Given the description of an element on the screen output the (x, y) to click on. 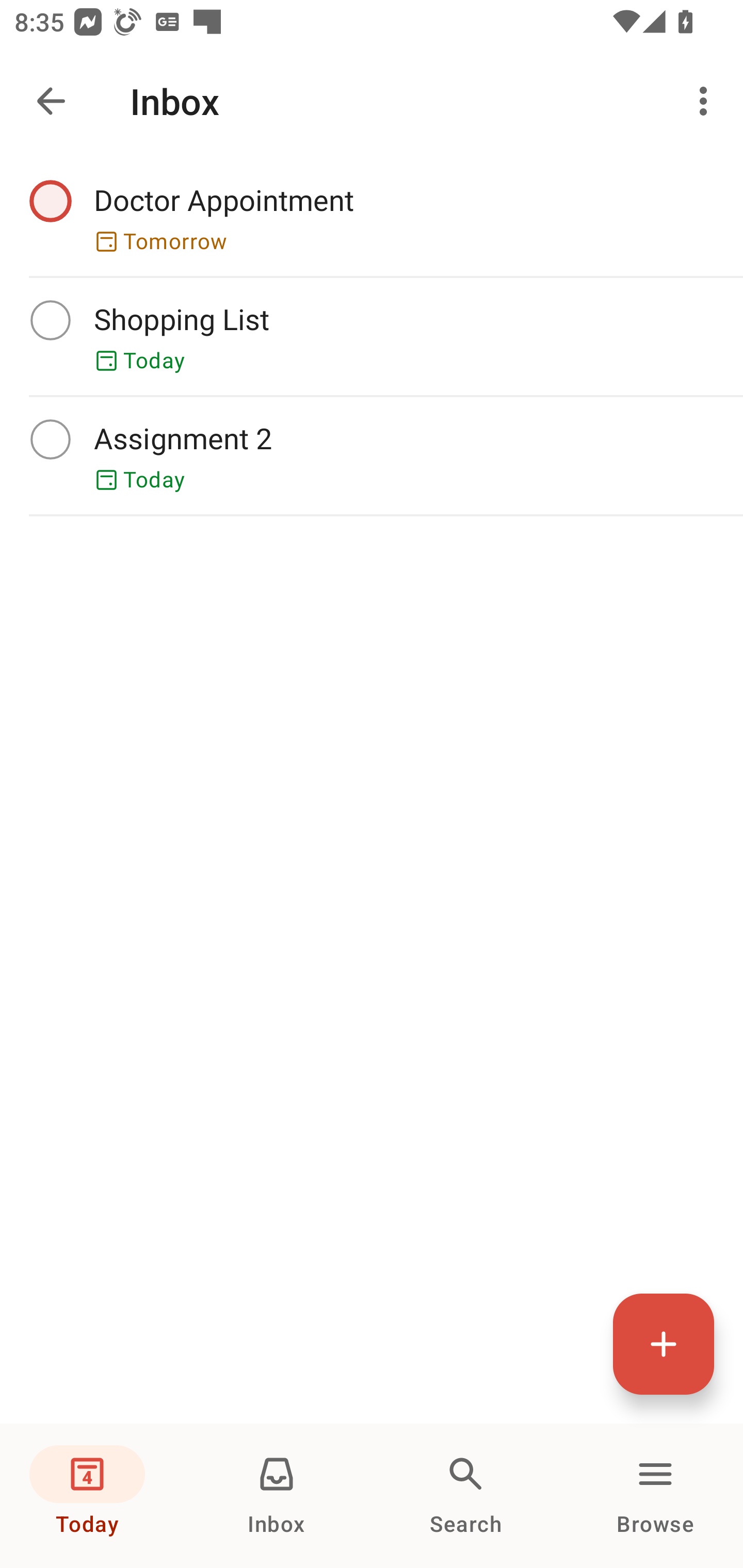
Navigate up Inbox More options (371, 100)
Navigate up (50, 101)
More options (706, 101)
Complete Doctor Appointment Tomorrow (371, 216)
Complete (50, 200)
Complete Shopping List Today (371, 336)
Complete (50, 319)
Complete Assignment 2 Today (371, 455)
Complete (50, 438)
Quick add (663, 1343)
Inbox (276, 1495)
Search (465, 1495)
Browse (655, 1495)
